Given the description of an element on the screen output the (x, y) to click on. 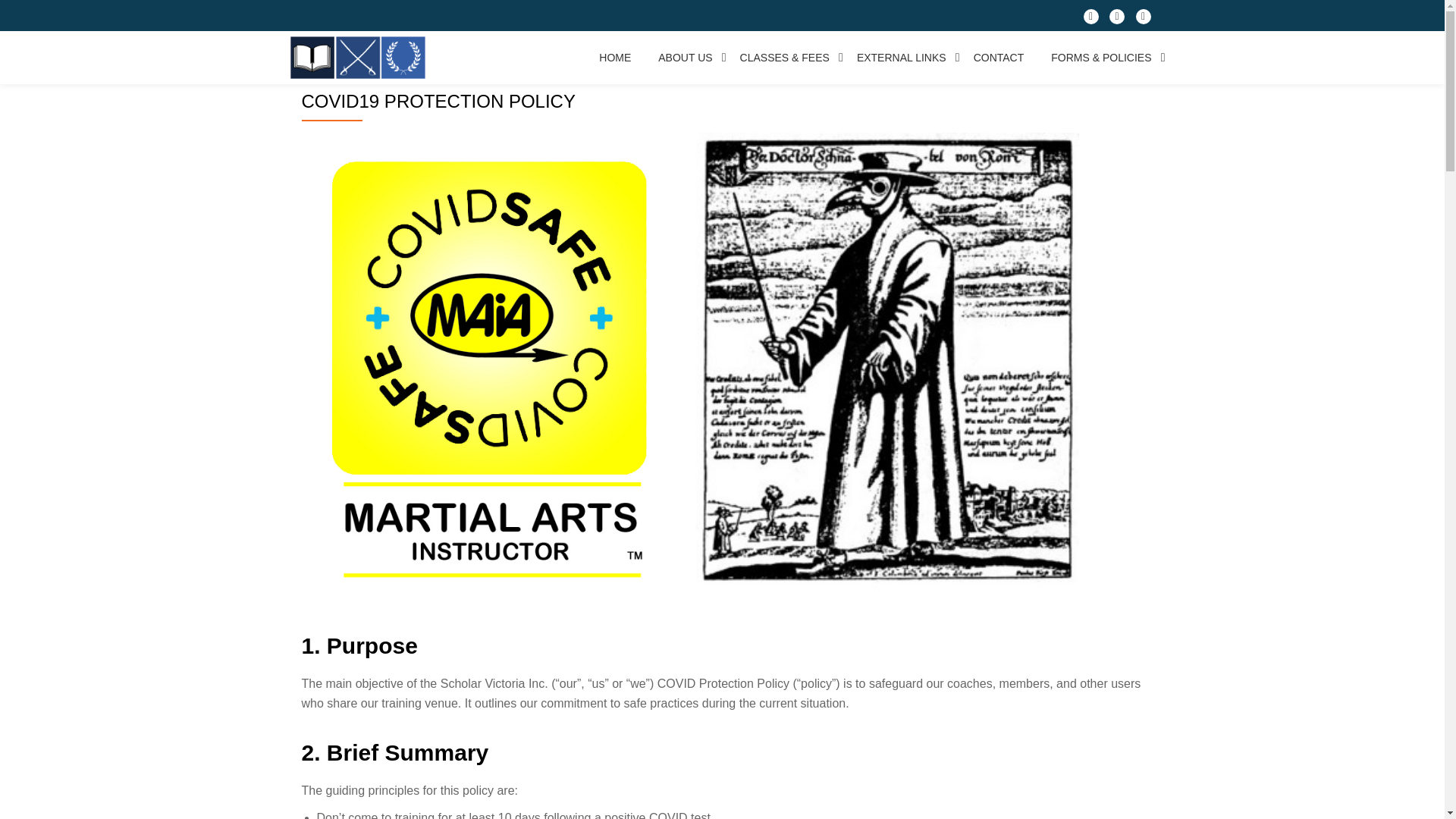
ABOUT US (684, 57)
EXTERNAL LINKS (901, 57)
fa-instagram (1116, 19)
CONTACT (999, 57)
HOME (614, 57)
fa-youtube-play (1143, 19)
Scholar Victoria Historical Fencing (359, 57)
fa-facebook (1091, 19)
